Given the description of an element on the screen output the (x, y) to click on. 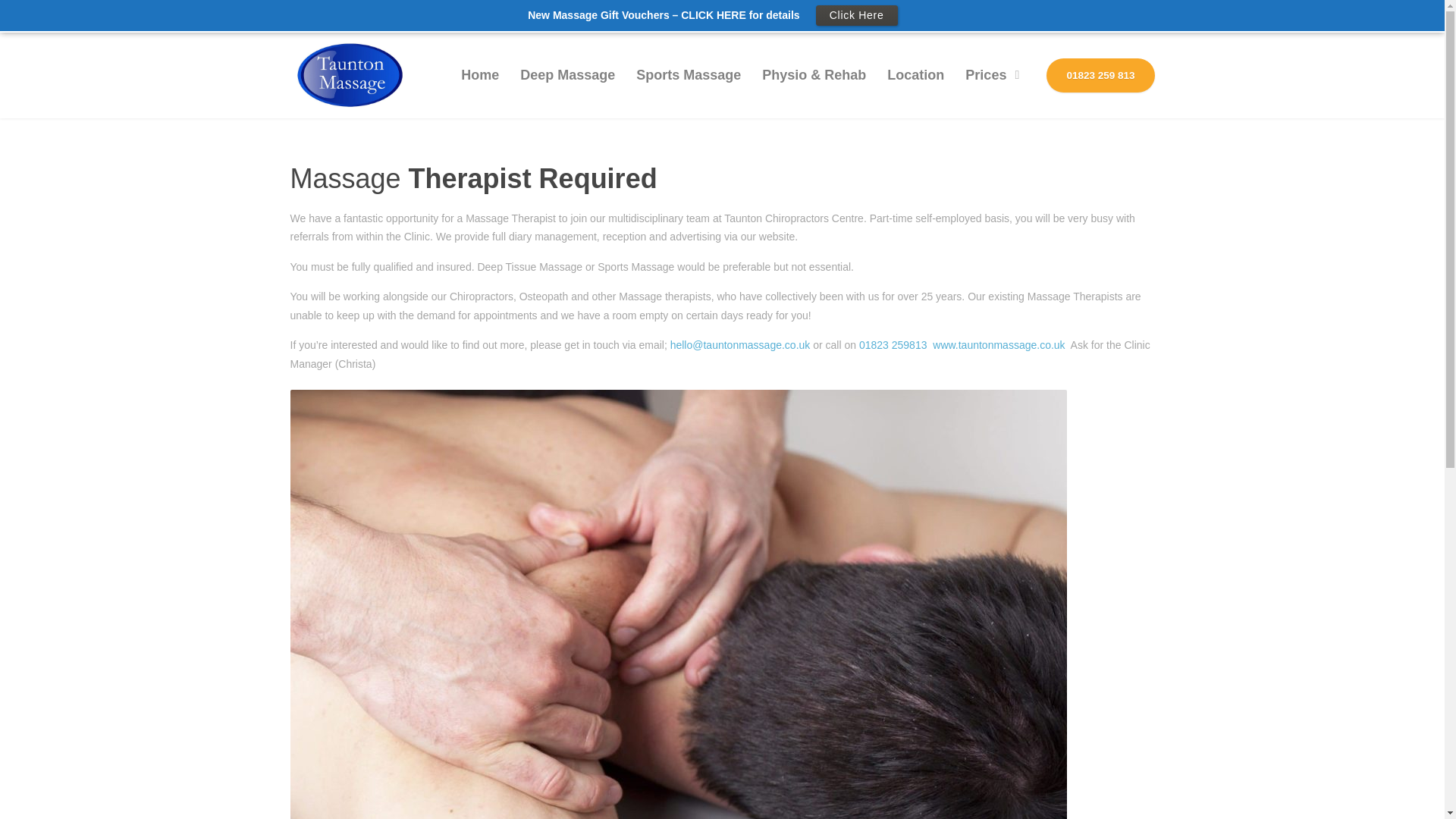
Deep Massage (567, 75)
www.tauntonmassage.co.uk (998, 345)
Sports Massage (688, 75)
Location (915, 75)
01823 259 813 (1100, 75)
01823 259813 (893, 345)
Taunton Massage (349, 74)
